Given the description of an element on the screen output the (x, y) to click on. 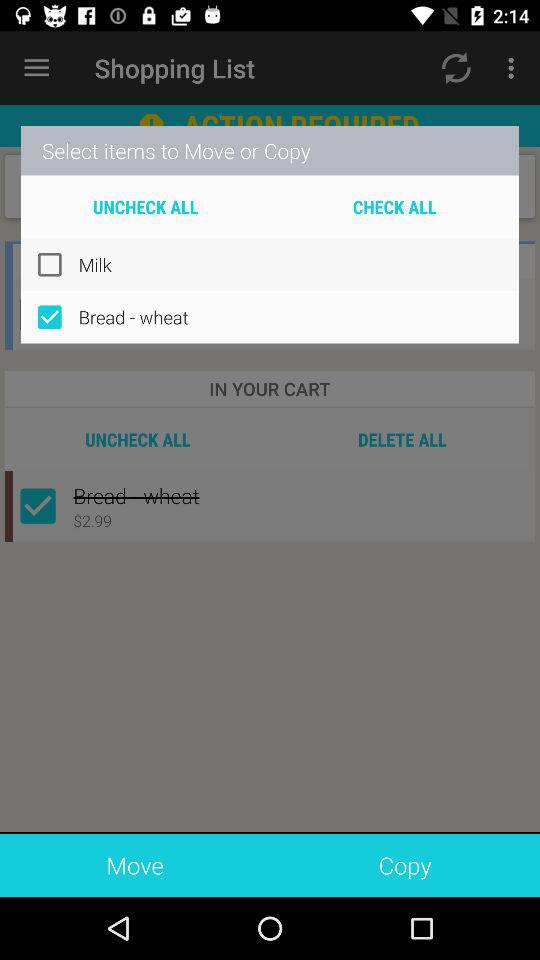
click item below select items to icon (145, 206)
